Given the description of an element on the screen output the (x, y) to click on. 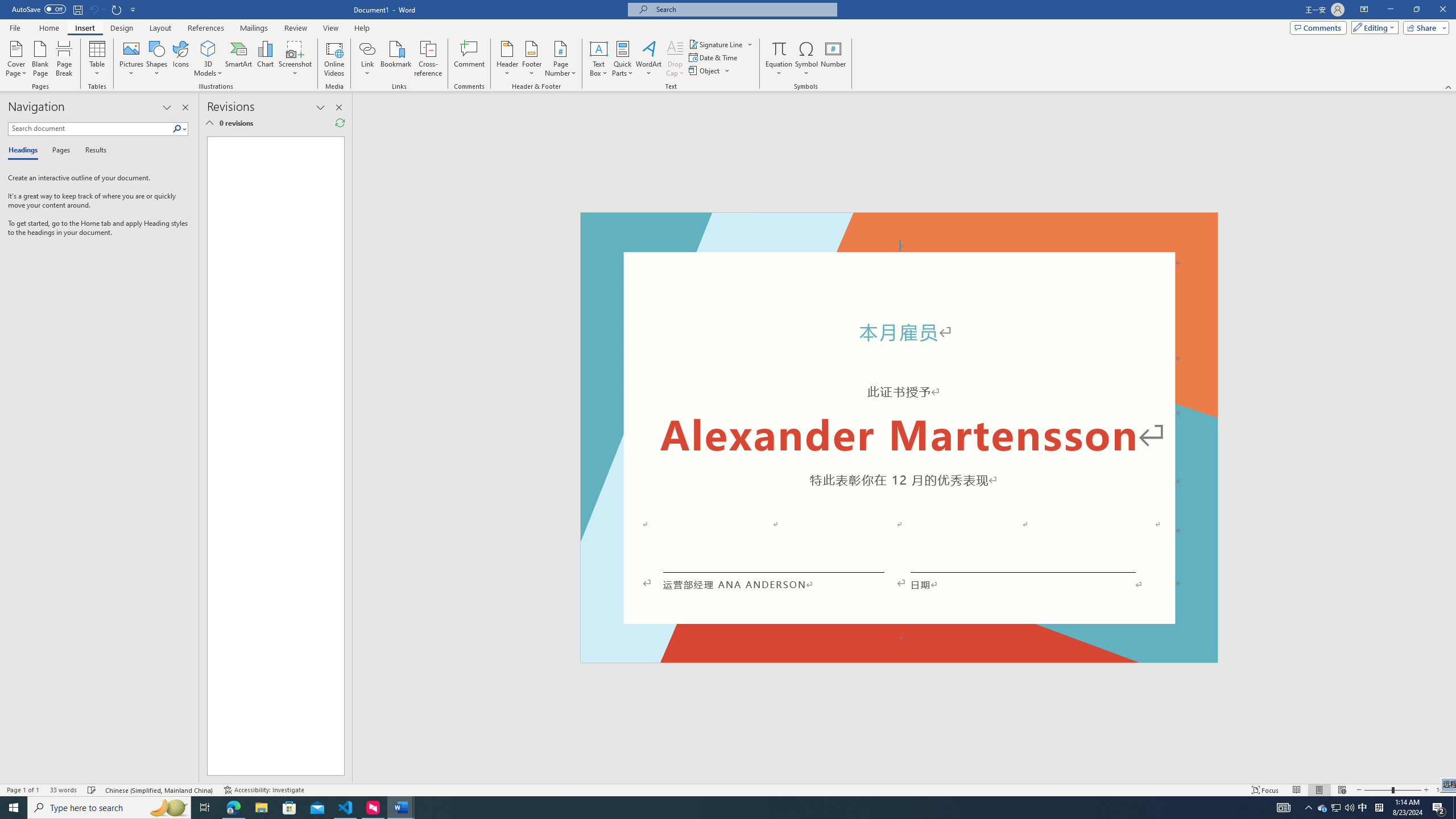
Object... (705, 69)
Decorative (898, 437)
Can't Undo (92, 9)
Object... (709, 69)
Bookmark... (396, 58)
